Given the description of an element on the screen output the (x, y) to click on. 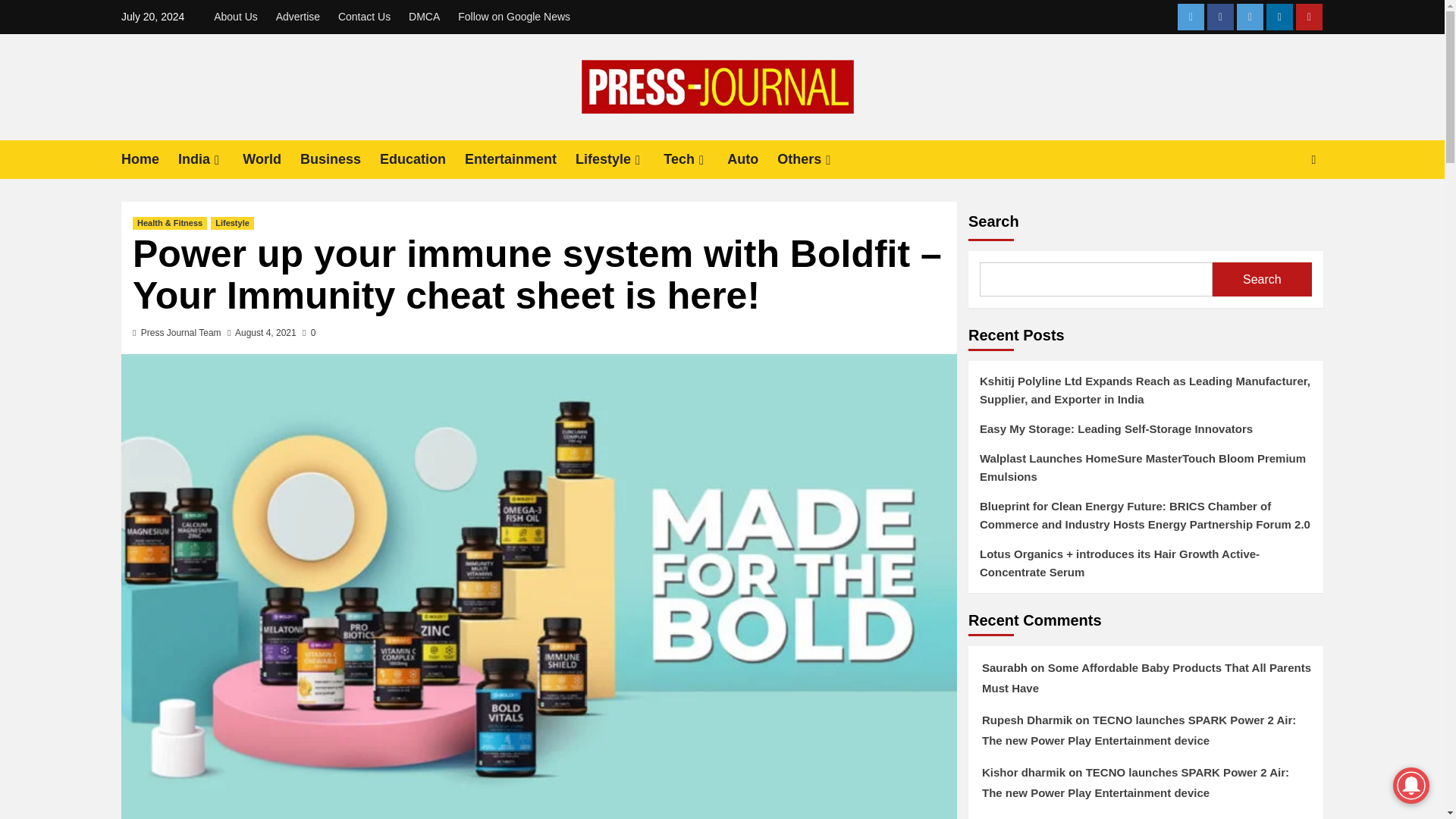
DMCA (423, 17)
Home (148, 159)
Lifestyle (619, 159)
Business (339, 159)
Education (422, 159)
Contact Us (363, 17)
Twitter (1249, 17)
Facebook (1220, 17)
Auto (751, 159)
World (271, 159)
Linkedin (1279, 17)
Others (815, 159)
India (210, 159)
Instagram (1190, 17)
Entertainment (519, 159)
